Given the description of an element on the screen output the (x, y) to click on. 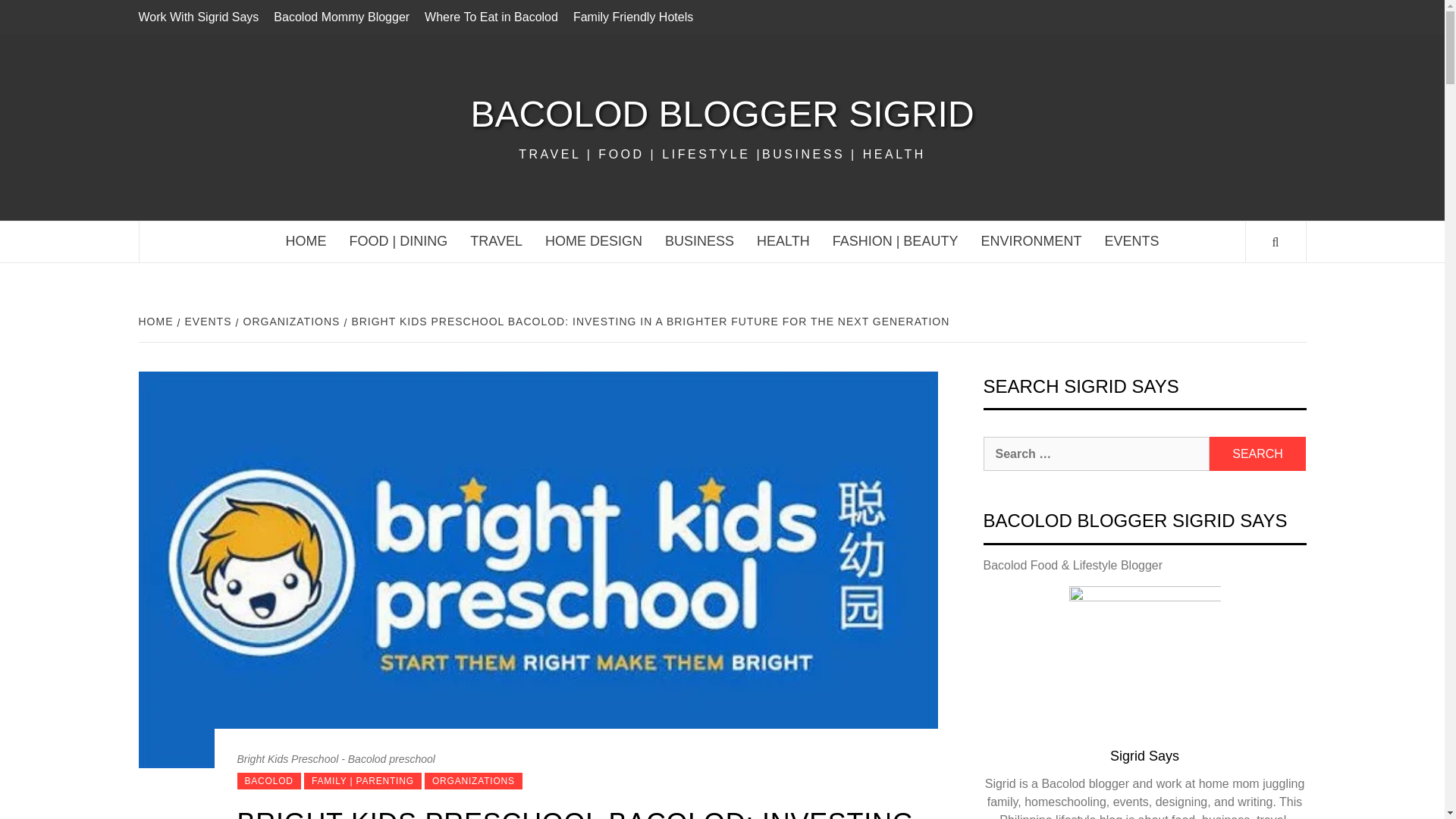
HOME (306, 241)
BUSINESS (699, 241)
BACOLOD BLOGGER SIGRID (720, 114)
Where To Eat in Bacolod (491, 17)
BACOLOD (267, 781)
Bacolod Mommy Blogger (341, 17)
EVENTS (1131, 241)
News (1131, 241)
Bacolod Restaurants (398, 241)
Family Friendly Hotels (633, 17)
